Given the description of an element on the screen output the (x, y) to click on. 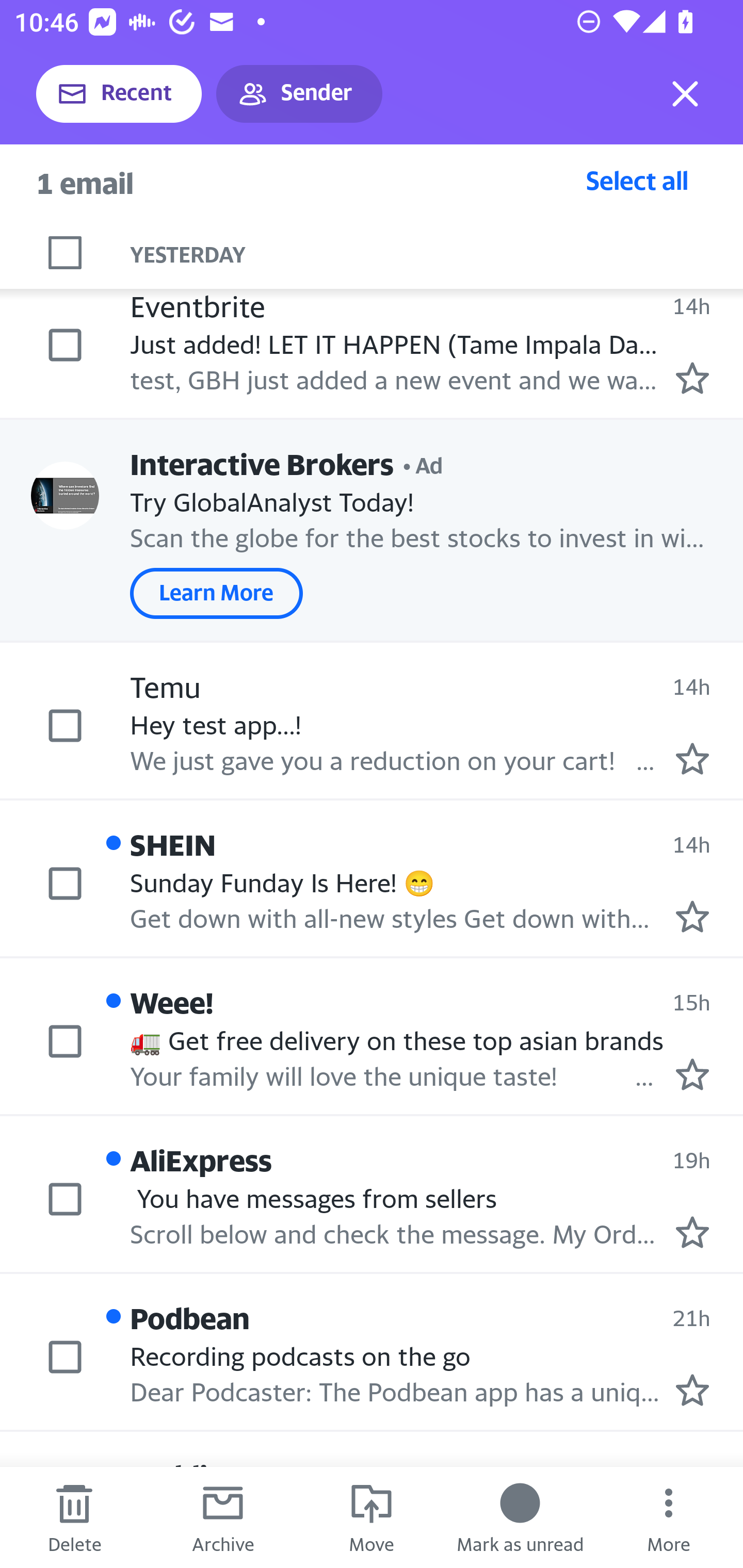
Sender (299, 93)
Exit selection mode (684, 93)
Select all (637, 180)
Mark as starred. (692, 378)
Mark as starred. (692, 758)
Mark as starred. (692, 916)
Mark as starred. (692, 1074)
Mark as starred. (692, 1231)
Mark as starred. (692, 1390)
Delete (74, 1517)
Archive (222, 1517)
Move (371, 1517)
Mark as unread (519, 1517)
More (668, 1517)
